Given the description of an element on the screen output the (x, y) to click on. 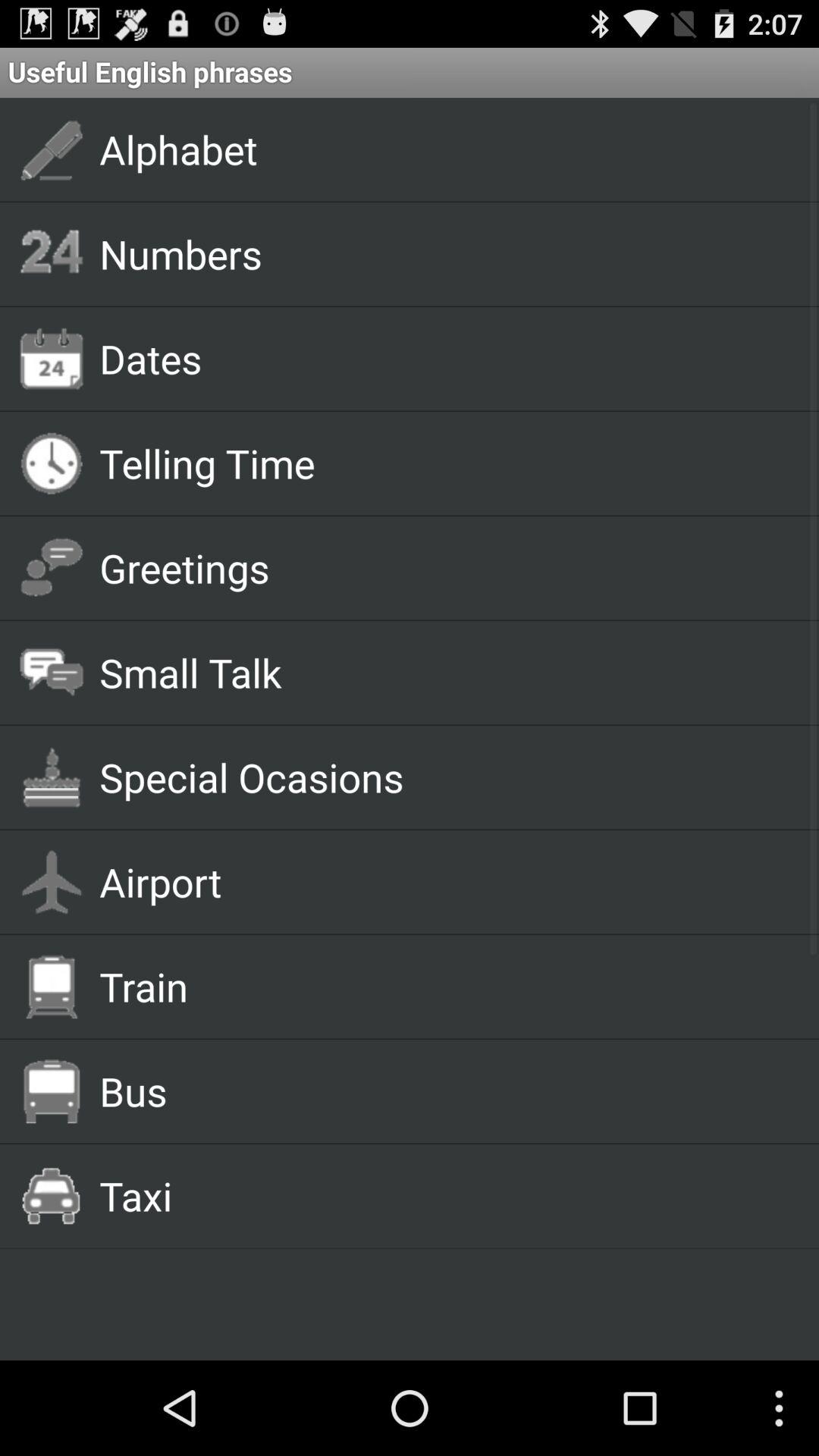
select the alphabet icon (441, 148)
